Given the description of an element on the screen output the (x, y) to click on. 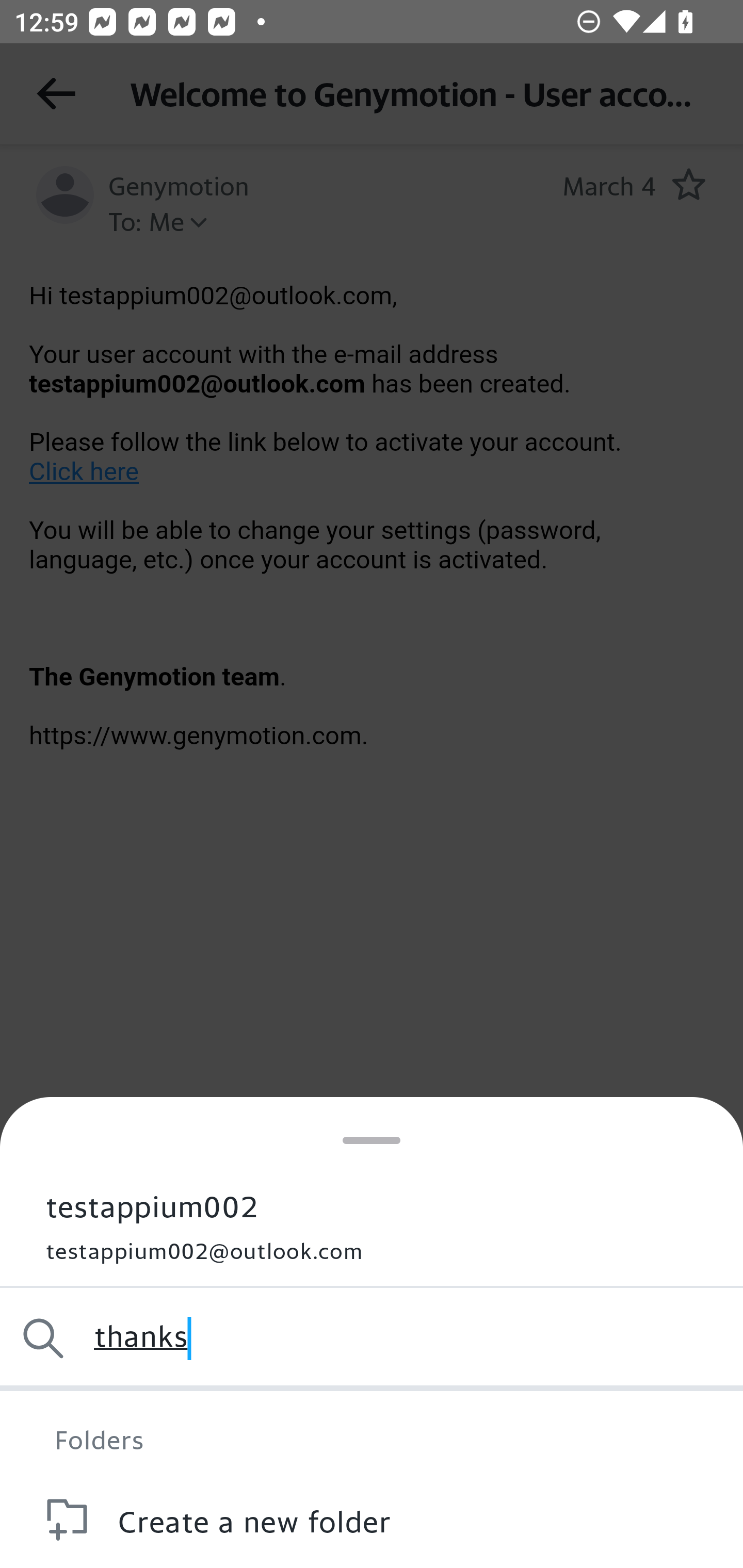
thanks (371, 1338)
Create a new folder (371, 1519)
